Given the description of an element on the screen output the (x, y) to click on. 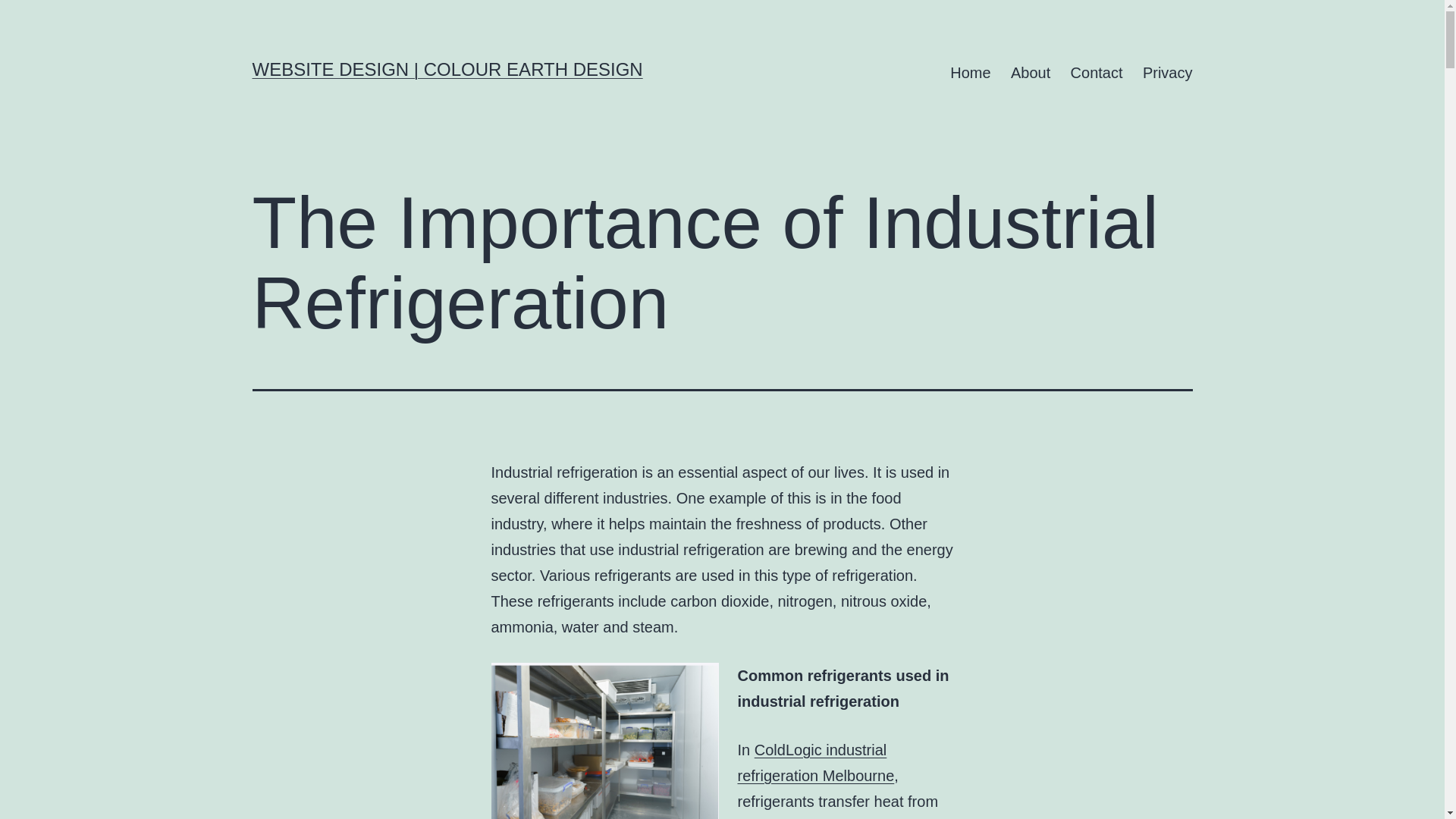
About (1031, 72)
Privacy (1167, 72)
Contact (1095, 72)
Home (970, 72)
ColdLogic industrial refrigeration Melbourne (814, 762)
